Given the description of an element on the screen output the (x, y) to click on. 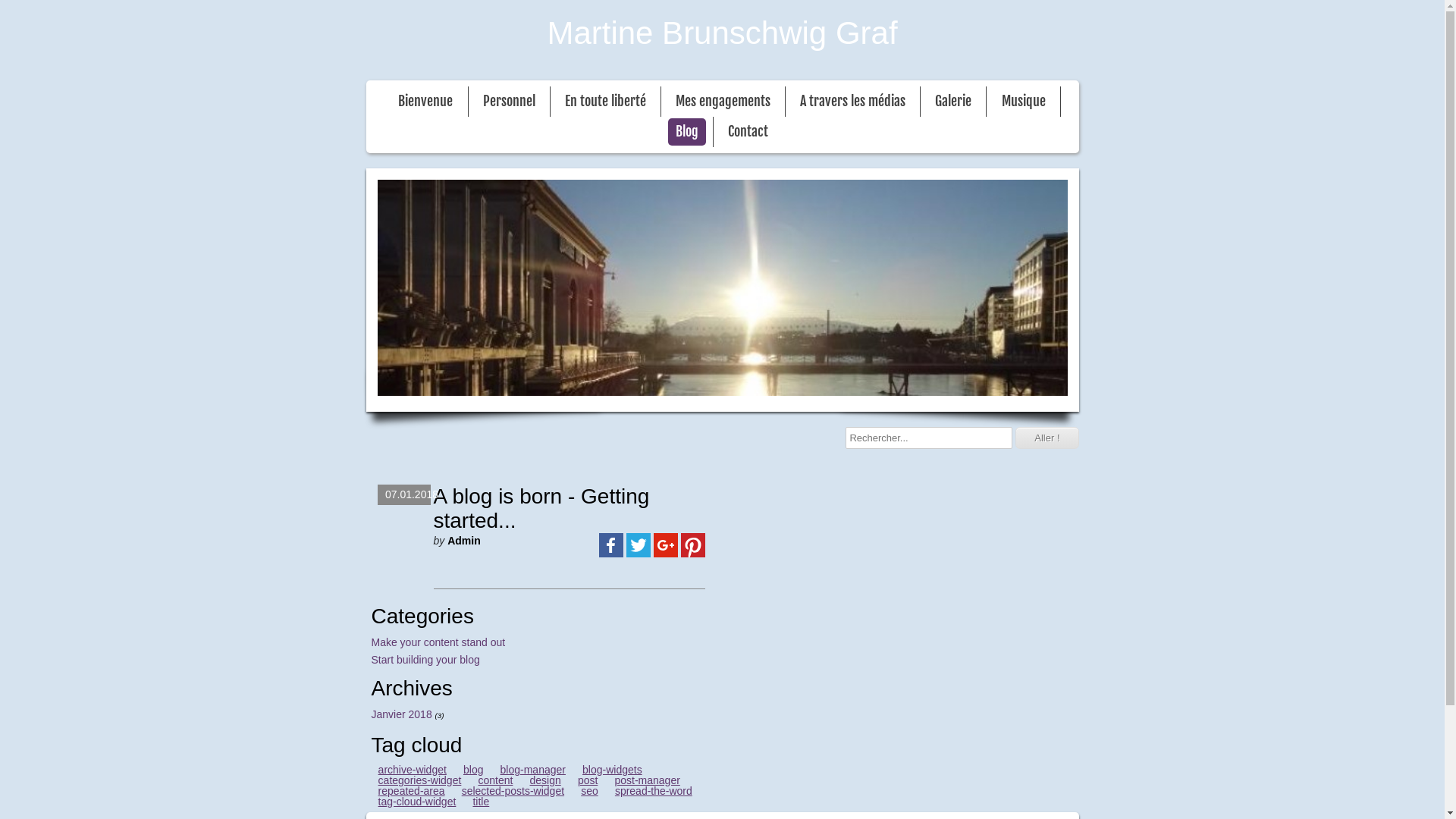
Google+ Element type: hover (665, 545)
Twitter Element type: hover (638, 545)
title Element type: text (480, 801)
content Element type: text (494, 780)
Personnel Element type: text (508, 101)
blog-manager Element type: text (532, 769)
Mes engagements Element type: text (723, 101)
repeated-area Element type: text (411, 790)
blog Element type: text (473, 769)
Bienvenue Element type: text (425, 101)
Contact Element type: text (747, 131)
Make your content stand out Element type: text (438, 642)
blog-widgets Element type: text (612, 769)
seo Element type: text (589, 790)
tag-cloud-widget Element type: text (417, 801)
Blog Element type: text (687, 131)
Martine Brunschwig Graf Element type: text (721, 32)
spread-the-word Element type: text (653, 790)
Facebook Element type: hover (611, 545)
post Element type: text (588, 780)
selected-posts-widget Element type: text (513, 790)
Start building your blog Element type: text (425, 659)
Musique Element type: text (1023, 101)
Pinterest Element type: hover (692, 545)
post-manager Element type: text (647, 780)
Janvier 2018 Element type: text (401, 714)
categories-widget Element type: text (419, 780)
design Element type: text (544, 780)
Galerie Element type: text (953, 101)
archive-widget Element type: text (412, 769)
